Given the description of an element on the screen output the (x, y) to click on. 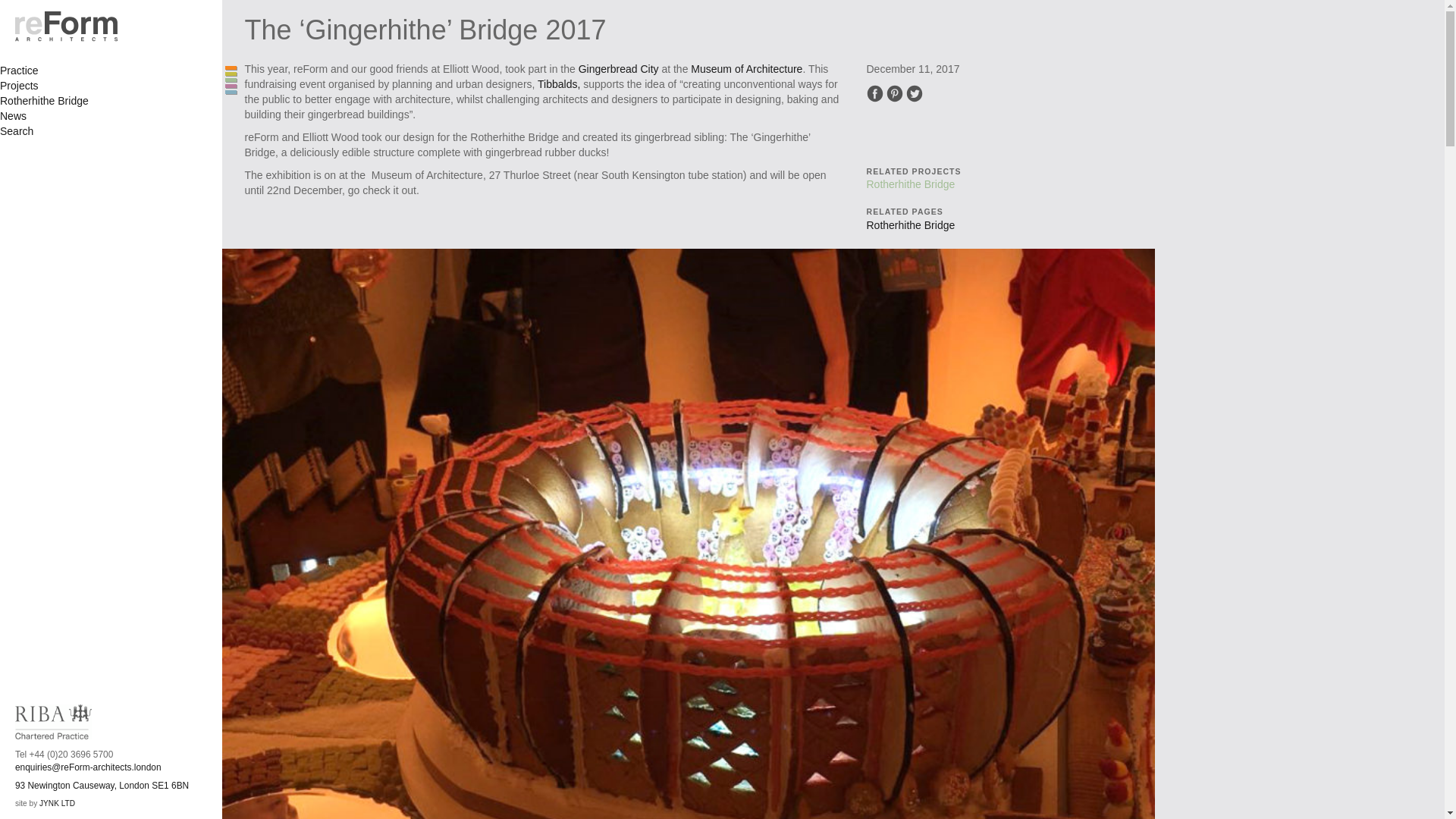
Twitter (914, 93)
Museum of Architecture (101, 785)
Pinterest (746, 69)
Practice (894, 93)
Gingerbread City (19, 70)
Facebook (618, 69)
JYNK LTD (874, 93)
Projects (57, 803)
Rotherhithe Bridge (19, 85)
